Given the description of an element on the screen output the (x, y) to click on. 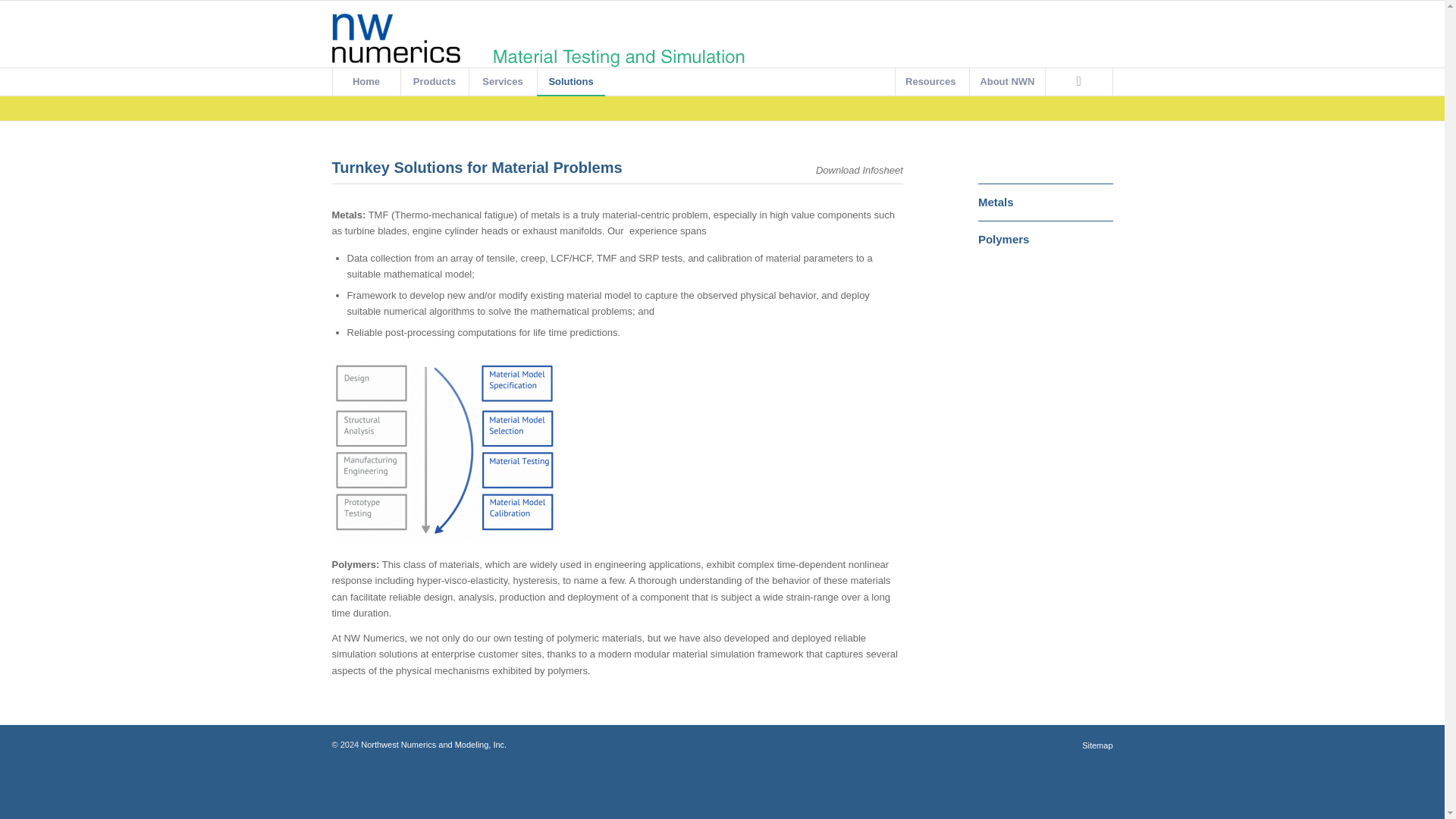
Services (502, 81)
Description (445, 449)
Home (365, 81)
Products (434, 81)
